Given the description of an element on the screen output the (x, y) to click on. 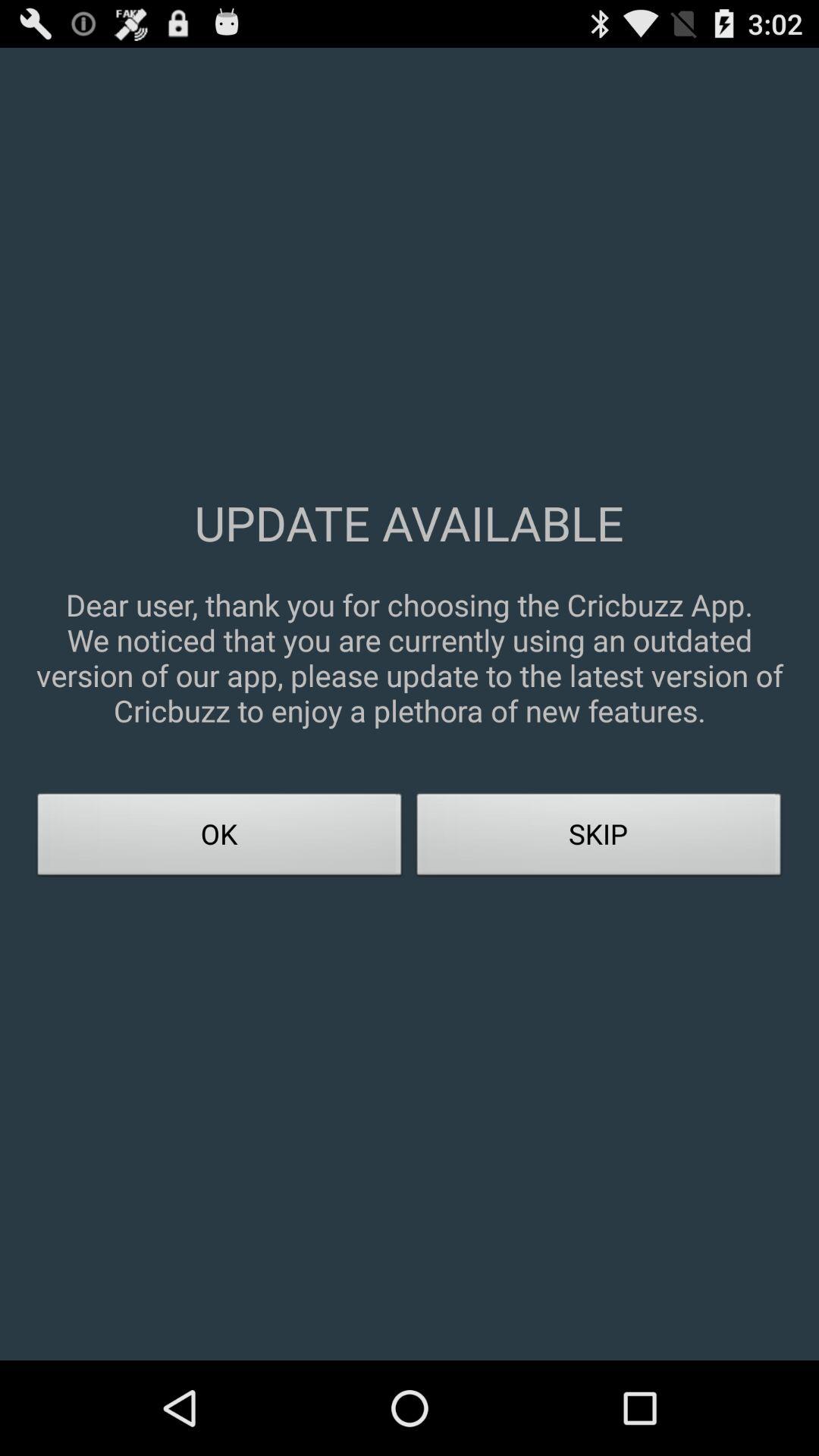
jump until the ok (219, 838)
